Given the description of an element on the screen output the (x, y) to click on. 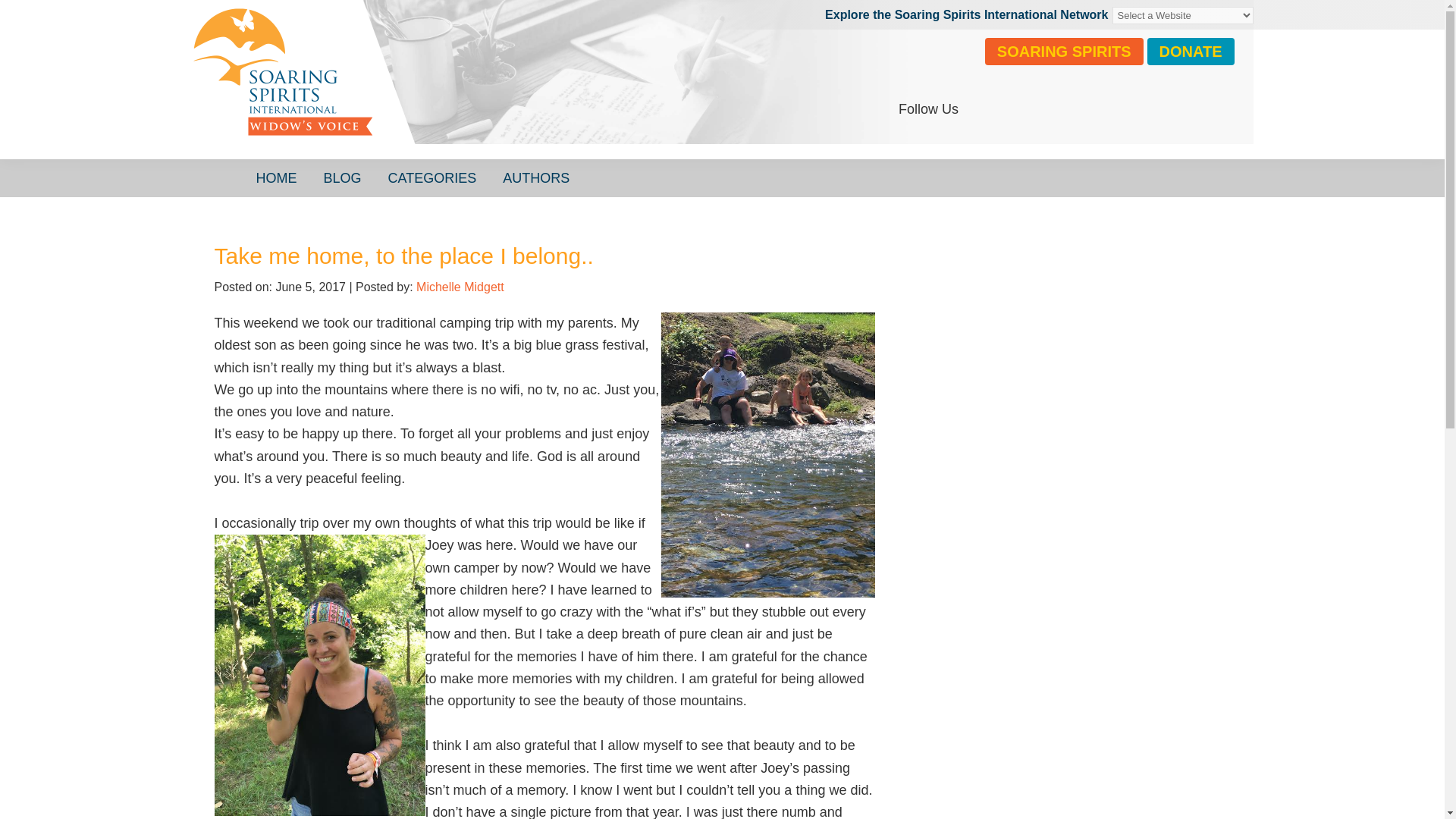
HOME (275, 177)
SOARING SPIRITS (1063, 51)
BLOG (342, 177)
Homepage (418, 87)
Facebook (981, 109)
Michelle Midgett (459, 286)
DONATE (1190, 51)
Widow's Voice (418, 87)
Instagram (1019, 109)
AUTHORS (536, 177)
CATEGORIES (432, 177)
YouTube (1056, 109)
